Given the description of an element on the screen output the (x, y) to click on. 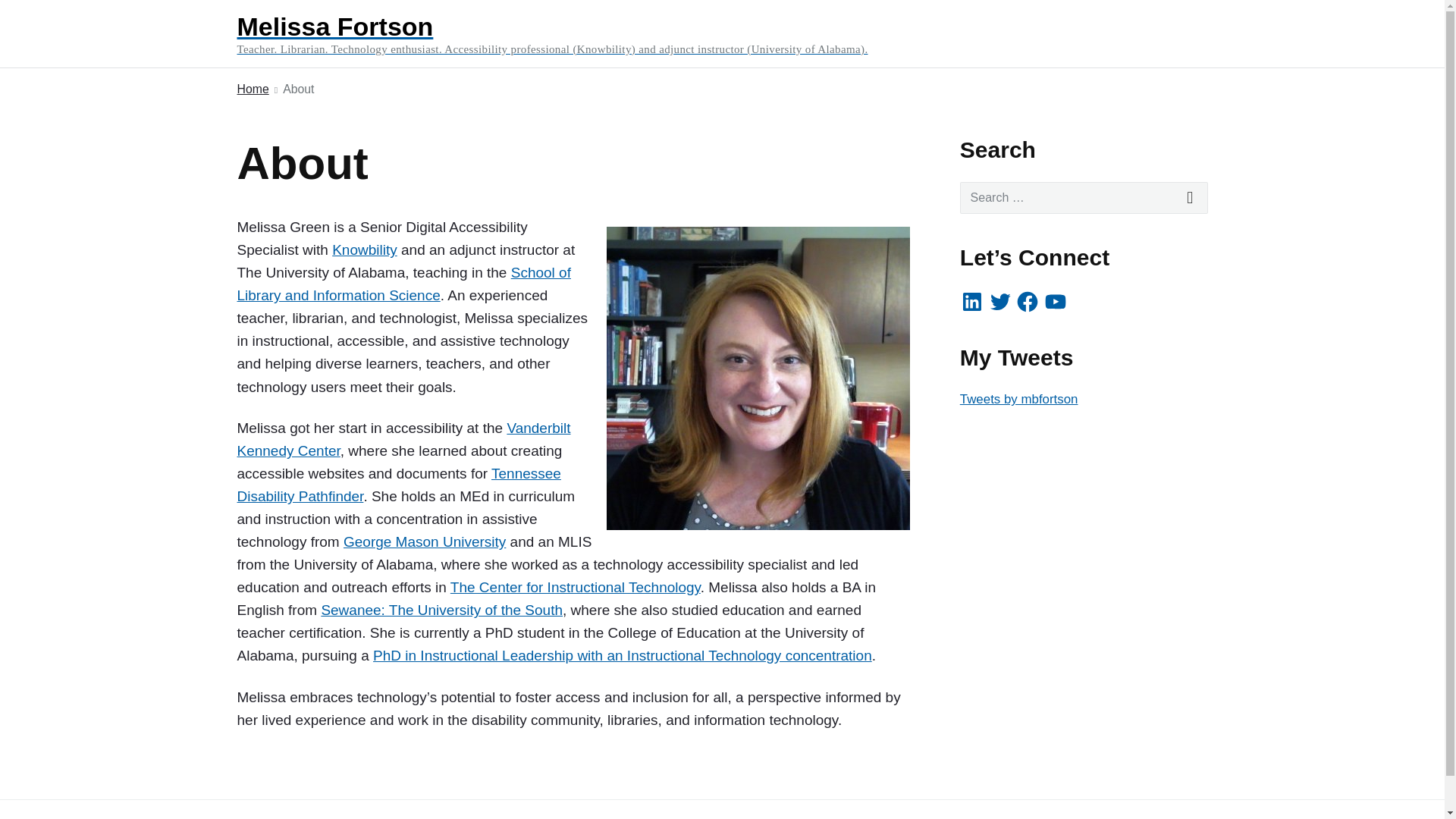
Search for: (1083, 197)
Knowbility (364, 249)
LinkedIn (971, 301)
Twitter (999, 301)
YouTube (1055, 301)
School of Library and Information Science (402, 283)
Tennessee Disability Pathfinder (397, 485)
SEARCH (1190, 197)
The Center for Instructional Technology (574, 587)
